Given the description of an element on the screen output the (x, y) to click on. 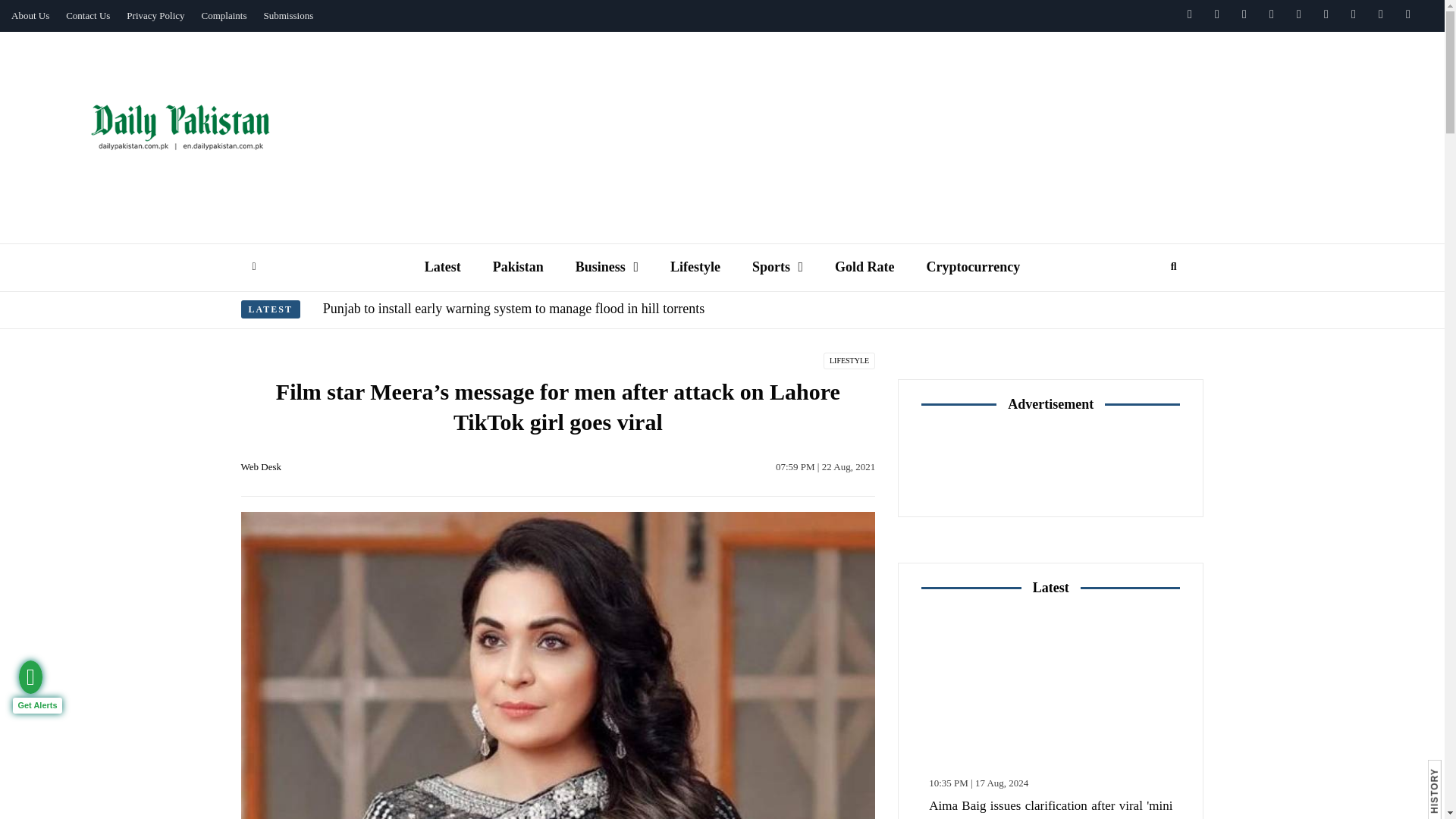
Complaints (224, 15)
Contact Us (87, 15)
Submissions (288, 15)
Latest (443, 266)
Sports (777, 266)
Privacy Policy (155, 15)
About Us (30, 15)
Business (606, 266)
Lifestyle (694, 266)
